Given the description of an element on the screen output the (x, y) to click on. 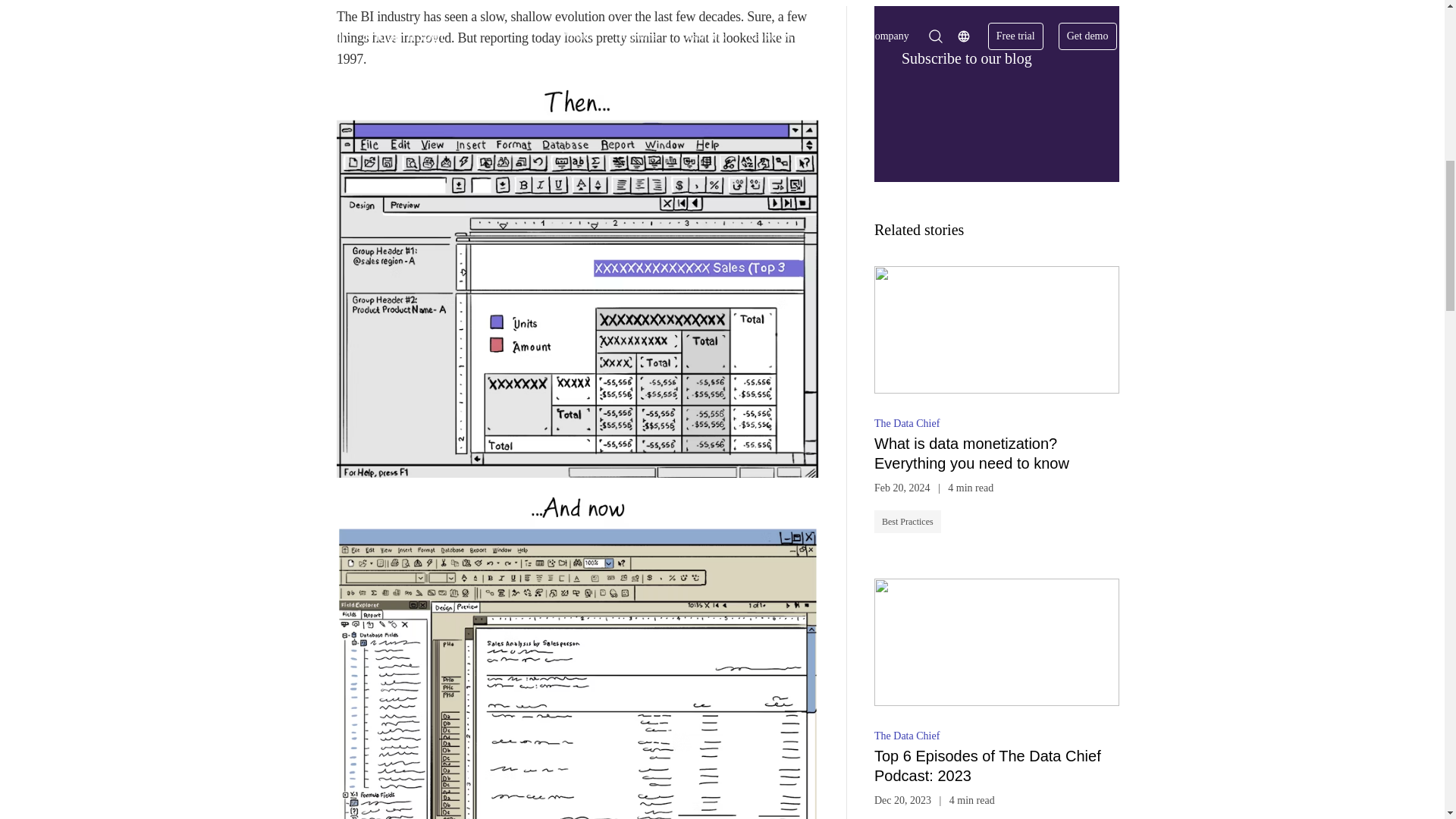
Form iframe (996, 113)
